Given the description of an element on the screen output the (x, y) to click on. 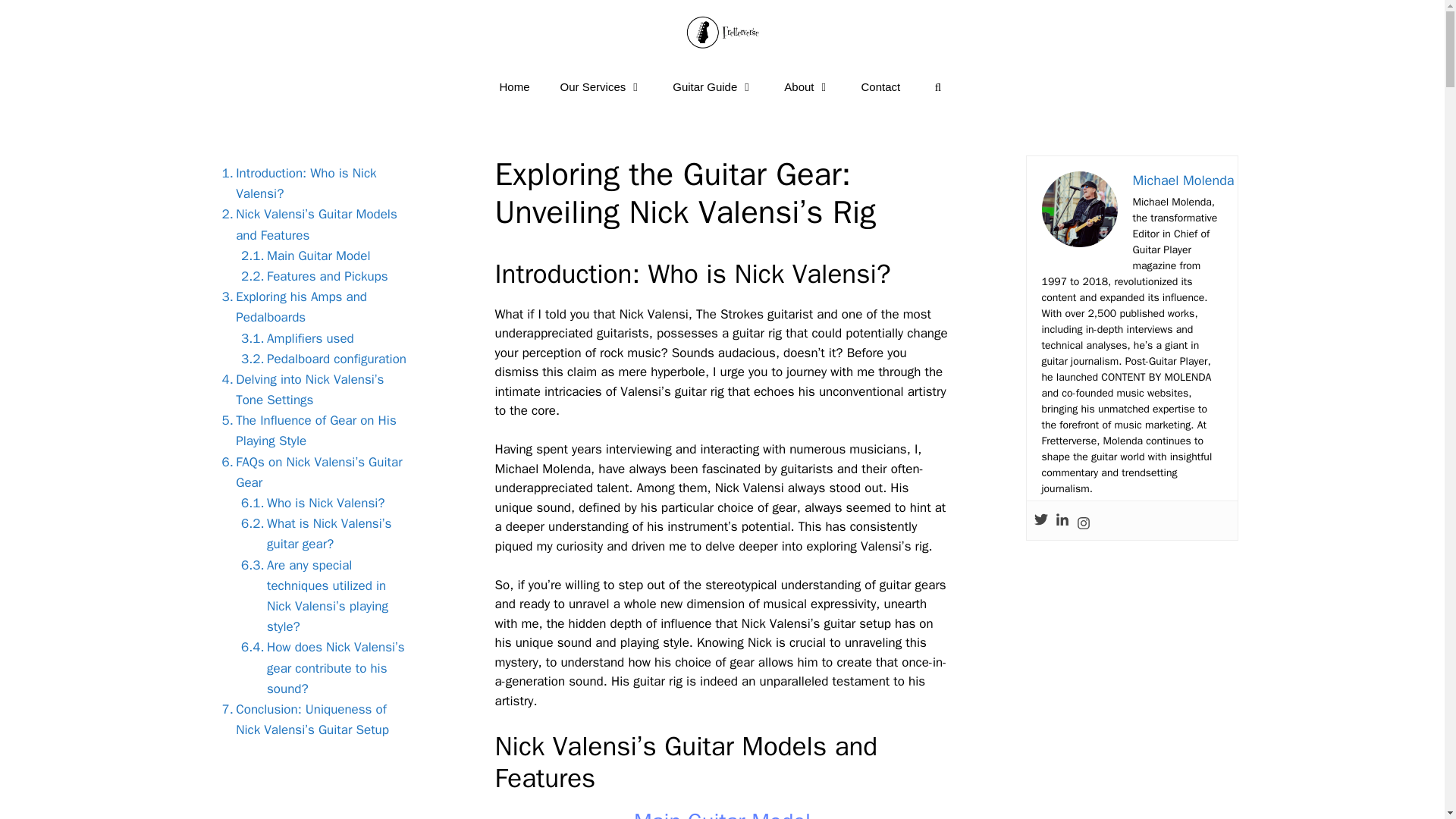
Amplifiers used (292, 338)
Introduction: Who is Nick Valensi? (312, 182)
Pedalboard configuration (319, 358)
Features and Pickups (310, 276)
The Influence of Gear on His Playing Style (312, 430)
Guitar Guide (713, 86)
Exploring his Amps and Pedalboards (312, 306)
Main Guitar Model (300, 255)
Our Services (601, 86)
Home (514, 86)
